Given the description of an element on the screen output the (x, y) to click on. 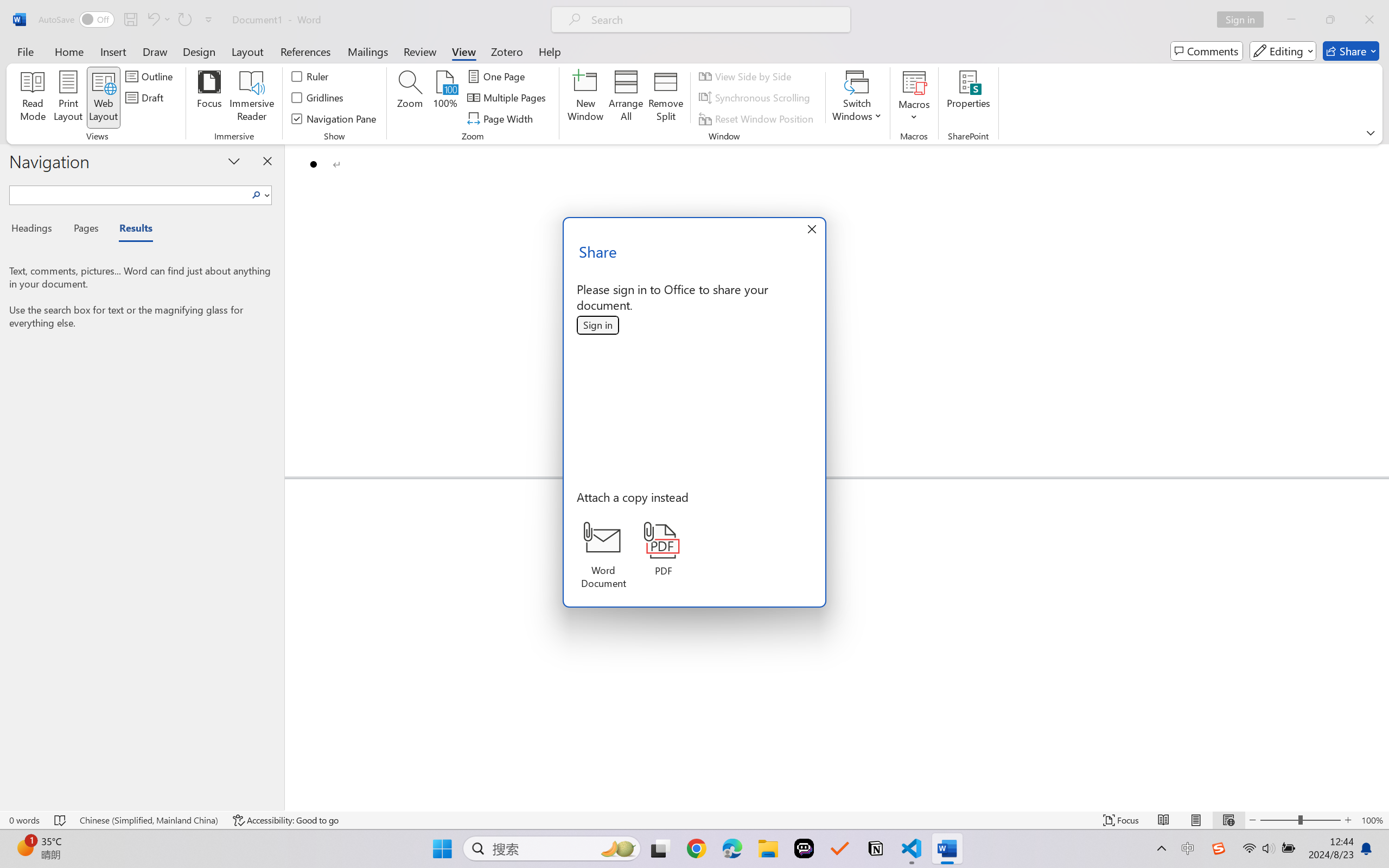
Focus (209, 97)
View Side by Side (746, 75)
Multiple Pages (507, 97)
